Given the description of an element on the screen output the (x, y) to click on. 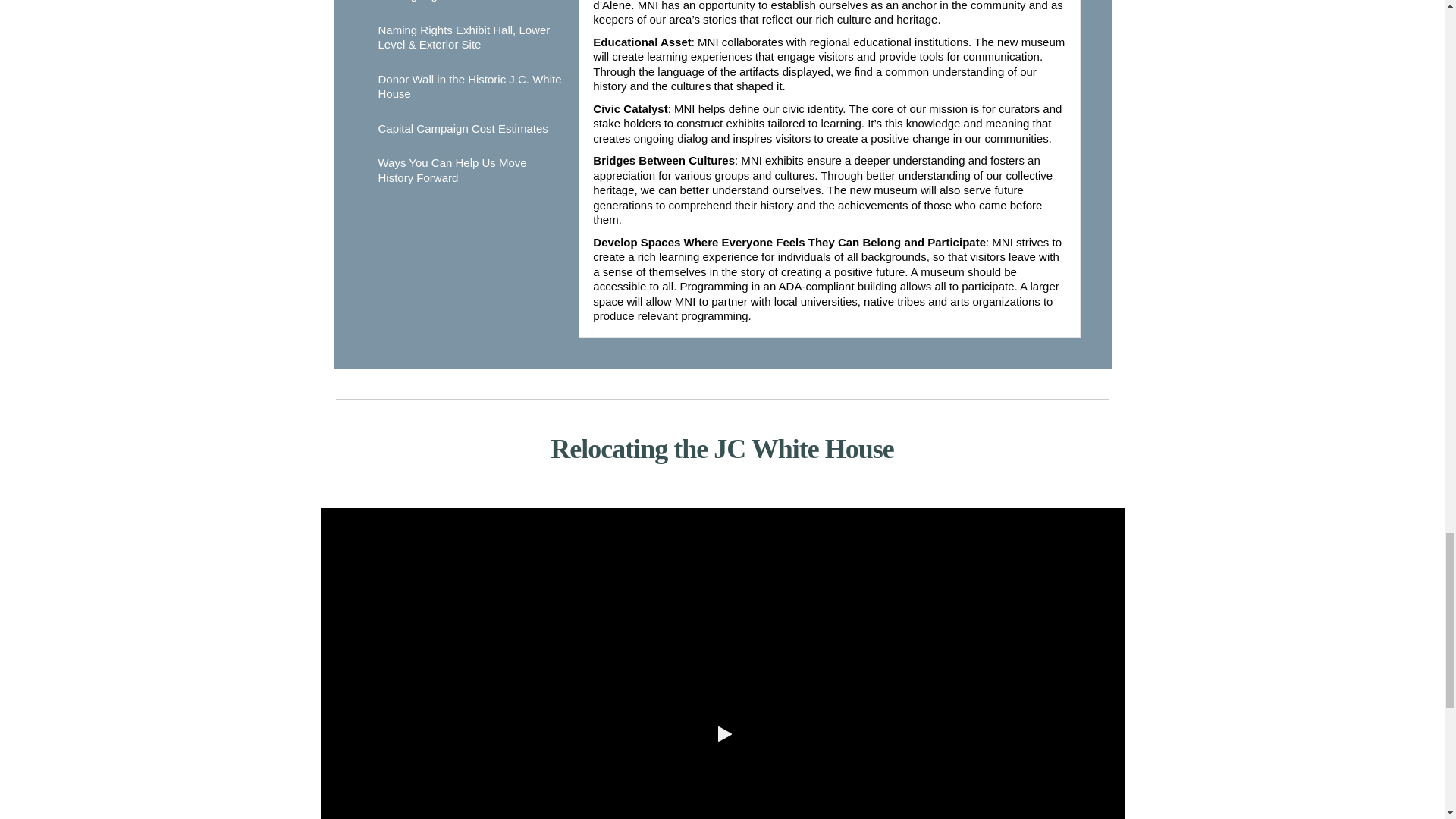
Capital Campaign Cost Estimates (471, 128)
Naming Rights J.C. White House (471, 6)
Ways You Can Help Us Move History Forward (471, 169)
Donor Wall in the Historic J.C. White House (471, 86)
